Given the description of an element on the screen output the (x, y) to click on. 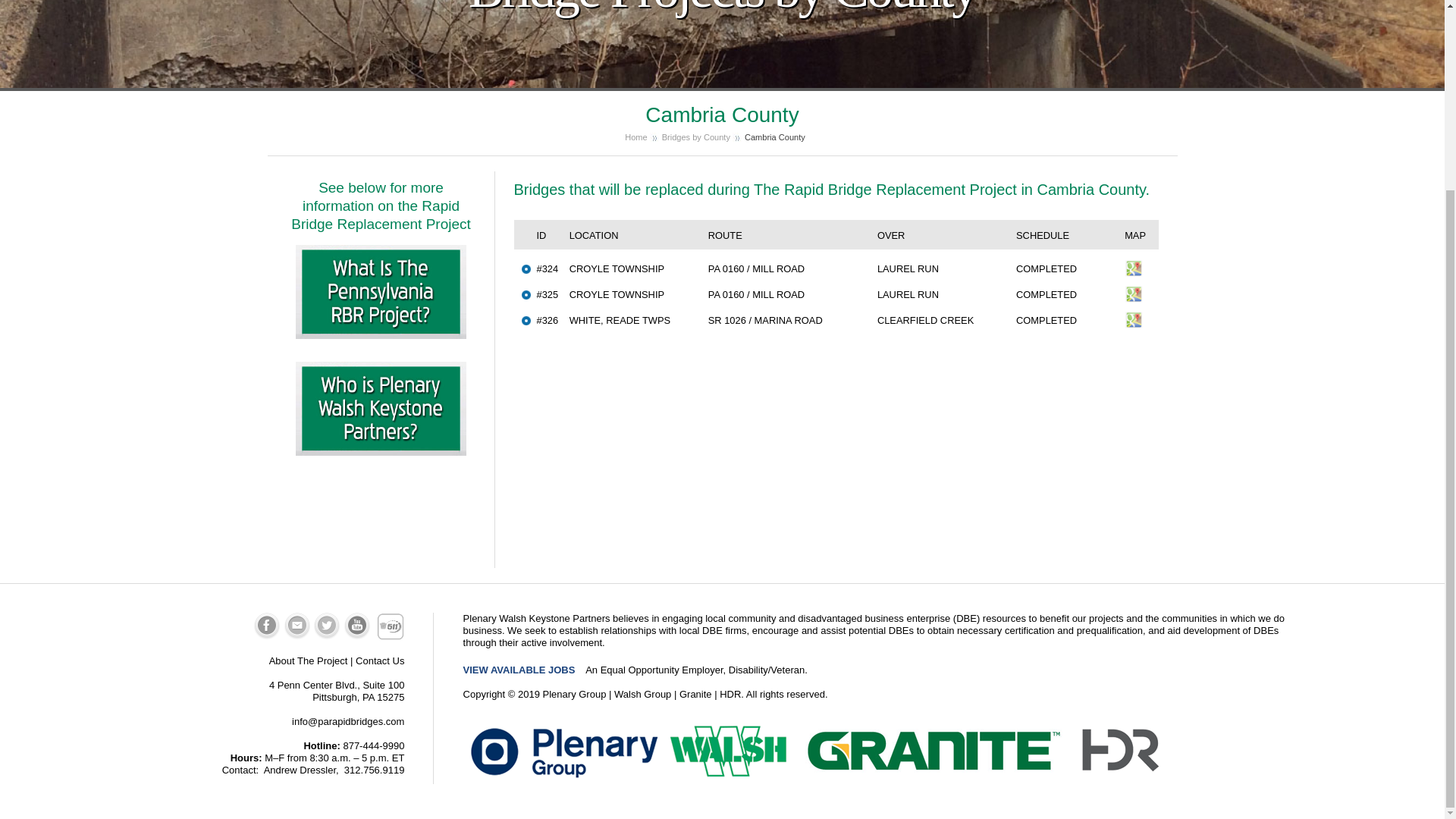
Contact Us (379, 660)
Bridges by County (696, 136)
YouTube (357, 636)
Cambria County (774, 136)
Bridges by County (696, 136)
Home (635, 136)
About The Project (308, 660)
Cambria County (774, 136)
VIEW AVAILABLE JOBS (519, 669)
Home (635, 136)
What Is The Rapid Bridge Replacement Project? (381, 250)
